Given the description of an element on the screen output the (x, y) to click on. 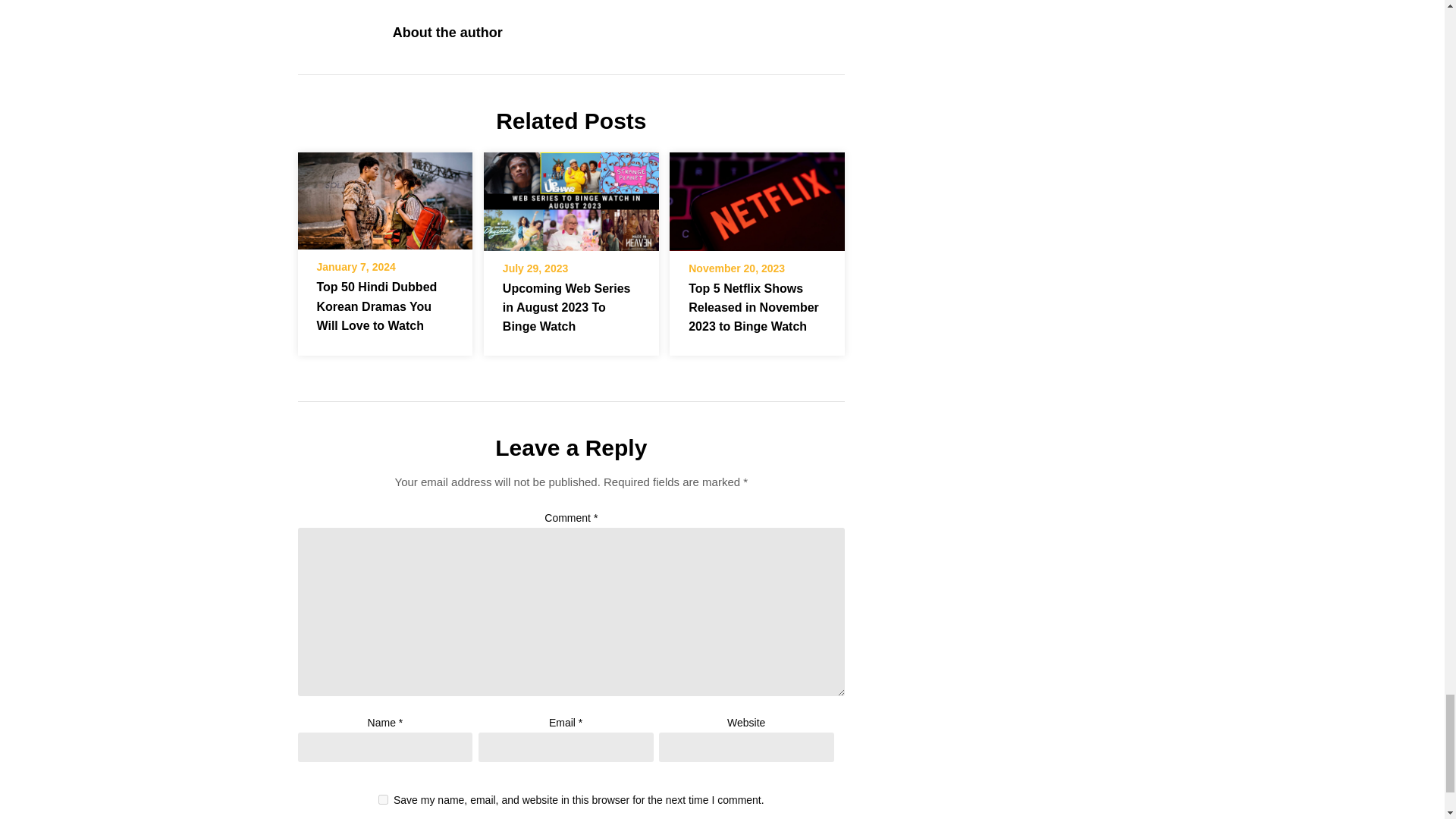
Upcoming Web Series in August 2023 To Binge Watch (571, 196)
Top 50 Hindi Dubbed Korean Dramas You Will Love to Watch (384, 195)
Top 5 Netflix Shows Released in November 2023 to Binge Watch (753, 306)
Upcoming Web Series in August 2023 To Binge Watch (566, 306)
Top 50 Hindi Dubbed Korean Dramas You Will Love to Watch (377, 305)
yes (383, 799)
Top 5 Netflix Shows Released in November 2023 to Binge Watch (756, 201)
Top 5 Netflix Shows Released in November 2023 to Binge Watch (756, 196)
Upcoming Web Series in August 2023 To Binge Watch (571, 201)
Top 50 Hindi Dubbed Korean Dramas You Will Love to Watch (384, 200)
